Given the description of an element on the screen output the (x, y) to click on. 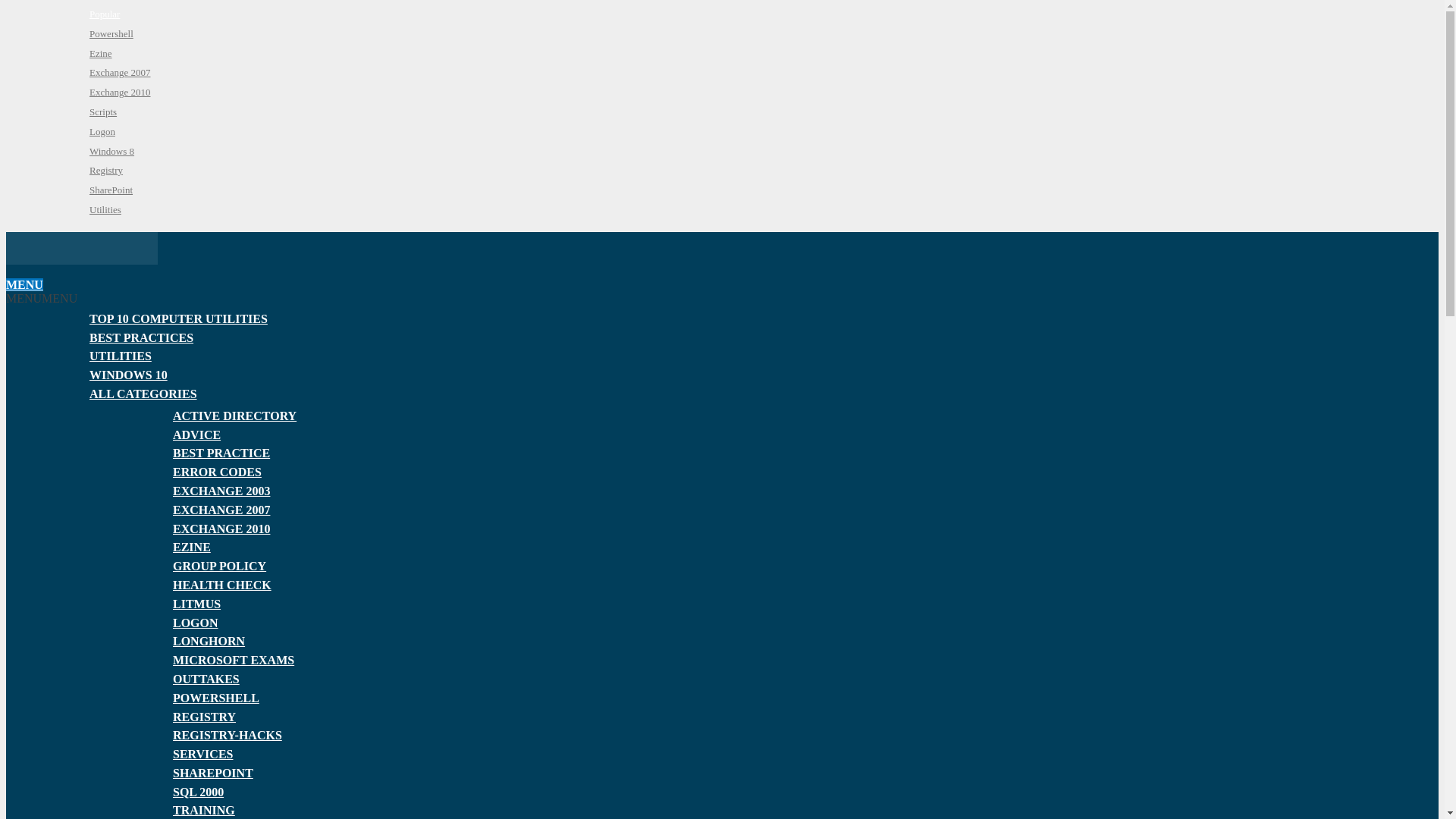
LITMUS (197, 603)
REGISTRY (204, 716)
Scripts (102, 111)
Logon (101, 131)
HEALTH CHECK (221, 584)
ALL CATEGORIES (142, 393)
MENU (24, 284)
Exchange 2010 (119, 91)
POWERSHELL (216, 697)
Windows 8 (110, 151)
TOP 10 COMPUTER UTILITIES (177, 318)
SQL 2000 (198, 791)
OUTTAKES (206, 678)
BEST PRACTICE (221, 452)
Utilities (104, 209)
